Given the description of an element on the screen output the (x, y) to click on. 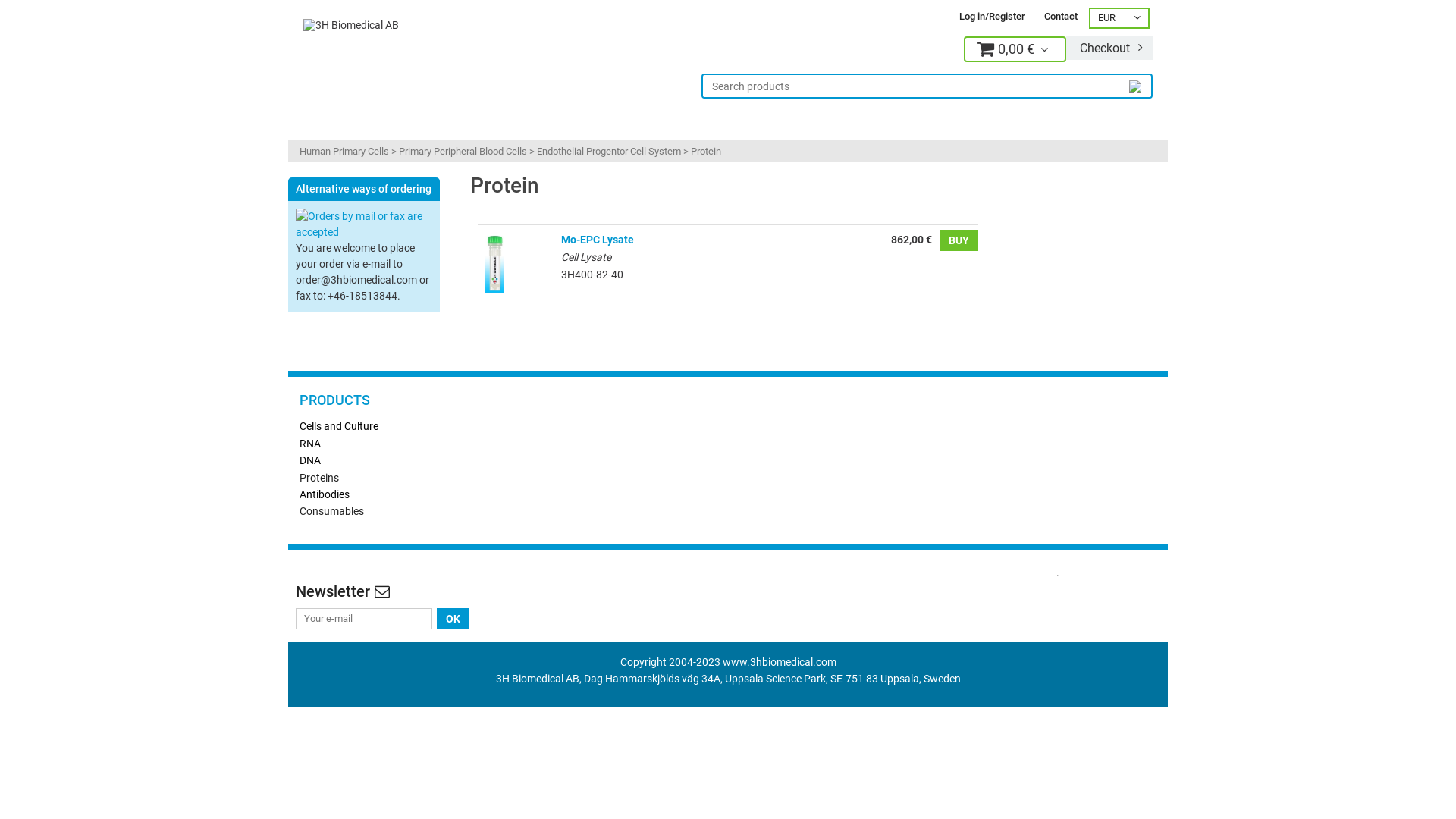
DNA Element type: text (309, 460)
Mo-EPC Lysate Element type: text (597, 239)
Cells and Culture Element type: text (338, 426)
Lysate Element type: hover (494, 262)
Protein Element type: text (705, 151)
Contact Element type: text (1060, 15)
Endothelial Progentor Cell System Element type: text (608, 151)
Lysate Element type: hover (494, 284)
Search Element type: hover (1137, 84)
Mail_and_fax.jpg Element type: hover (363, 224)
BUY Element type: text (958, 240)
OK Element type: text (452, 618)
Checkout Element type: text (1109, 47)
RNA Element type: text (309, 443)
Primary Peripheral Blood Cells Element type: text (462, 151)
Antibodies Element type: text (324, 494)
Human Primary Cells Element type: text (344, 151)
3H Biomedical AB Element type: hover (350, 24)
Log in/Register Element type: text (992, 15)
